Given the description of an element on the screen output the (x, y) to click on. 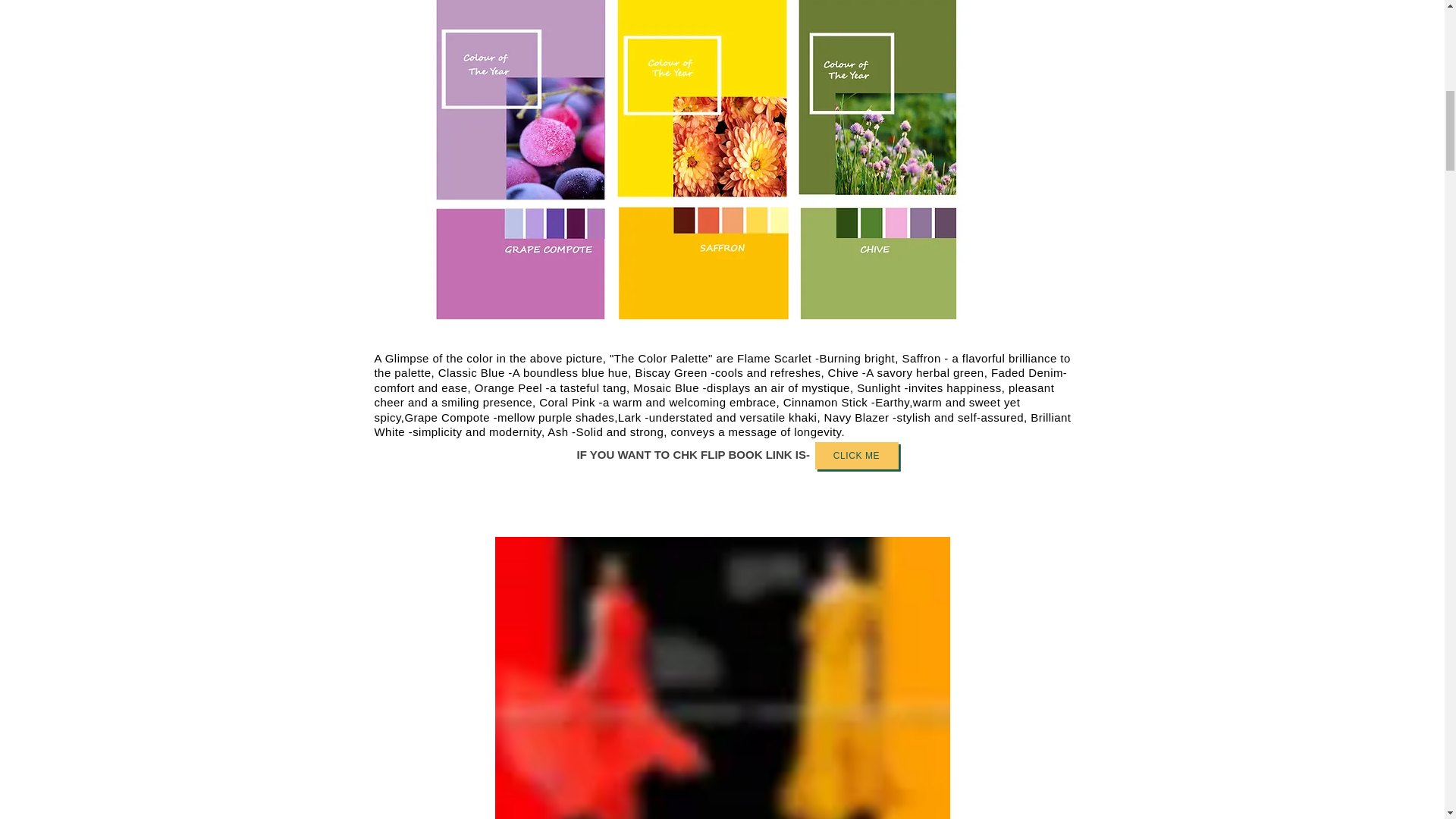
CLICK ME (855, 455)
